Given the description of an element on the screen output the (x, y) to click on. 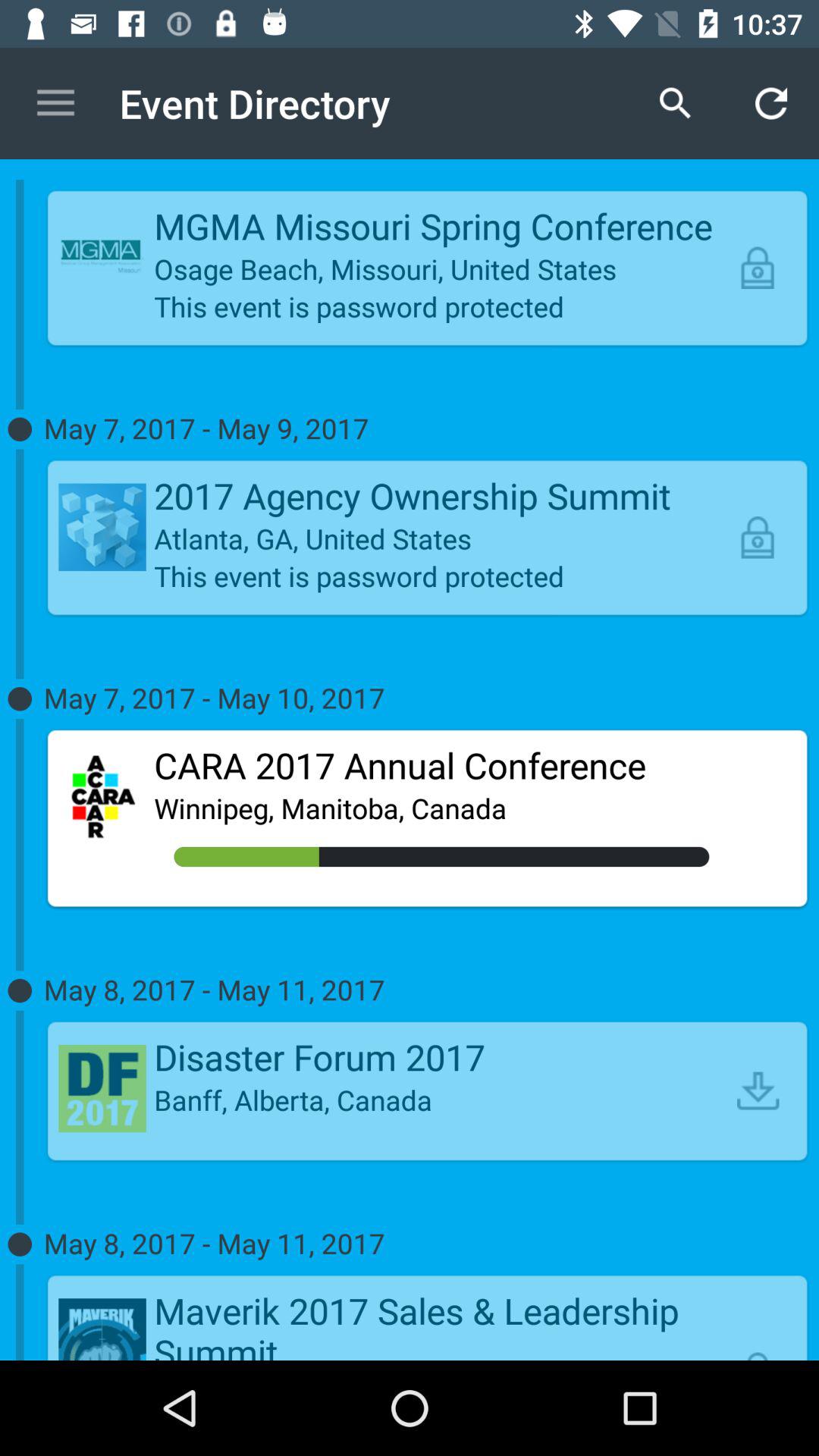
select the item above osage beach missouri icon (441, 225)
